Given the description of an element on the screen output the (x, y) to click on. 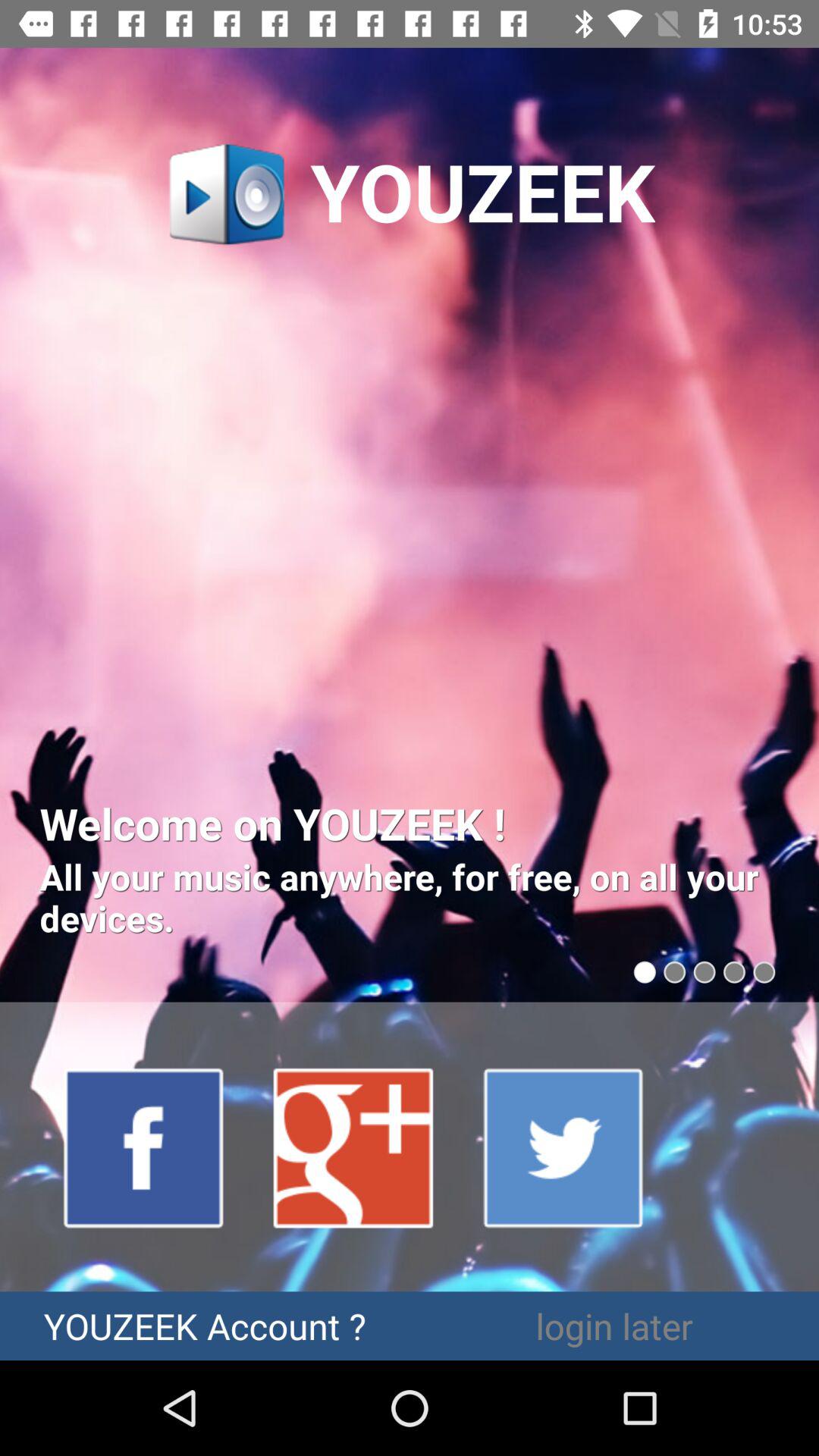
facebook link (144, 1146)
